Given the description of an element on the screen output the (x, y) to click on. 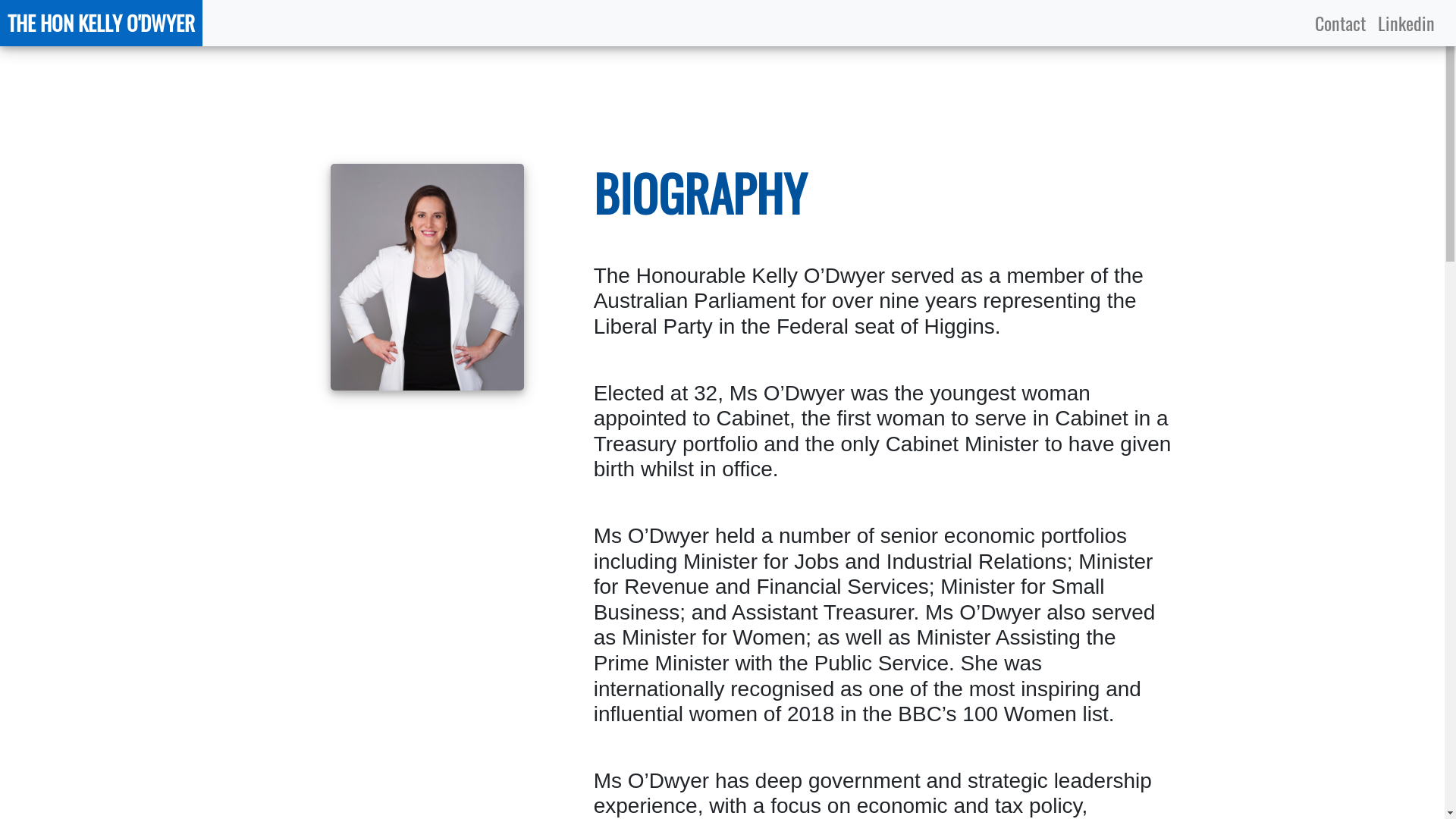
Linkedin Element type: text (1405, 22)
Contact Element type: text (1339, 22)
THE HON KELLY O'DWYER Element type: text (101, 23)
